Given the description of an element on the screen output the (x, y) to click on. 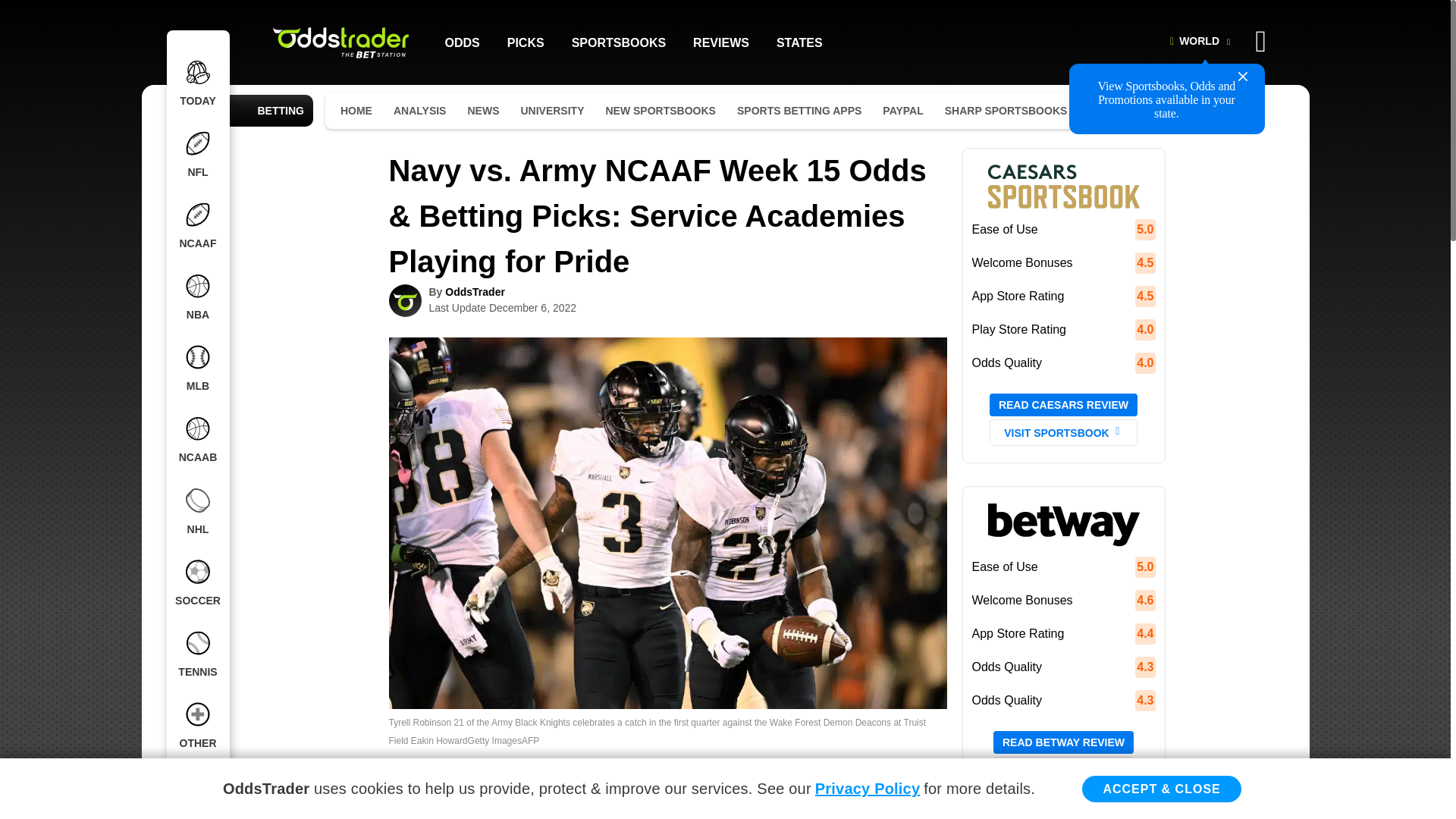
NEWS (483, 110)
HOME (356, 110)
UNIVERSITY (551, 110)
Week 15 (715, 770)
ODDS (461, 42)
SPORTSBOOKS (618, 42)
STATES (799, 42)
NEW SPORTSBOOKS (659, 110)
Bowl game matchups (733, 788)
backgroundLayer 1 (1205, 62)
SPORTS BETTING APPS (798, 110)
ANALYSIS (419, 110)
betway-sportsbook-logo - Oddstrader (1062, 522)
PICKS (525, 42)
Army v Wake Forest - Oddstrader (667, 698)
